Given the description of an element on the screen output the (x, y) to click on. 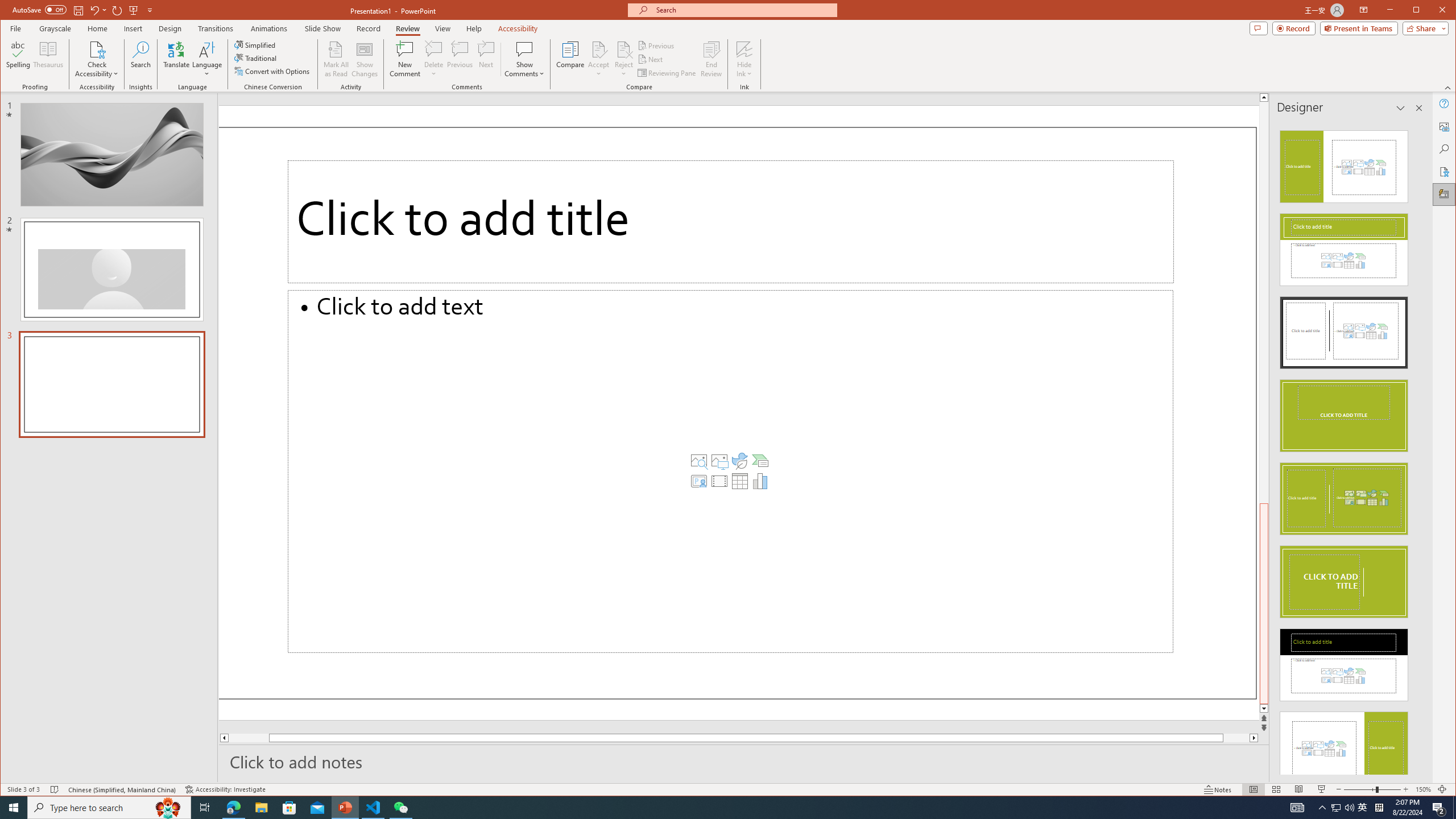
Insert Video (719, 480)
Insert an Icon (739, 460)
Grayscale (55, 28)
Insert a SmartArt Graphic (760, 460)
